Given the description of an element on the screen output the (x, y) to click on. 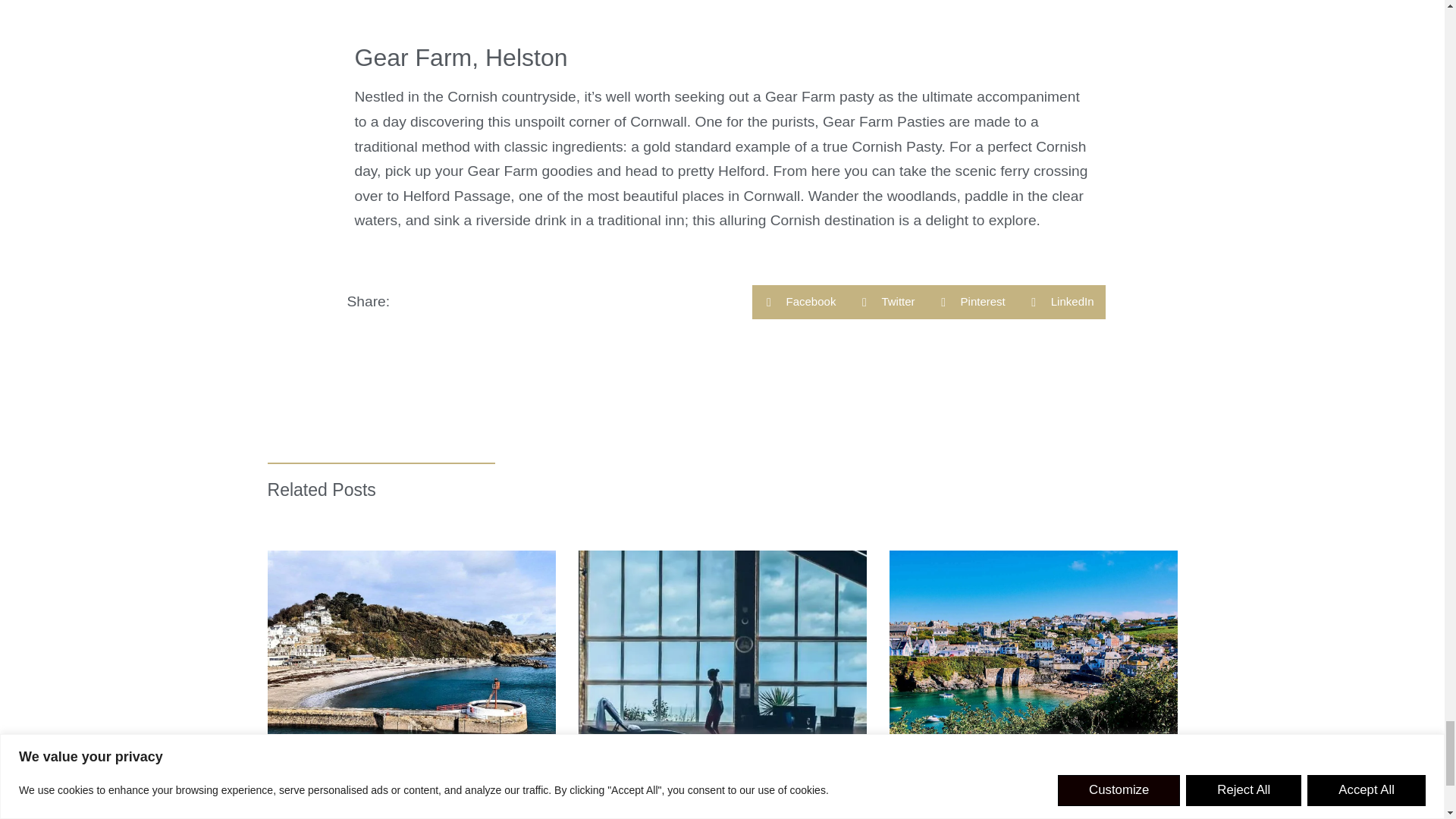
Ten Of The Best Things To Do In Looe (406, 807)
The Best Spas In Cornwall (701, 807)
Ten North Cornwall Destinations (977, 807)
